Given the description of an element on the screen output the (x, y) to click on. 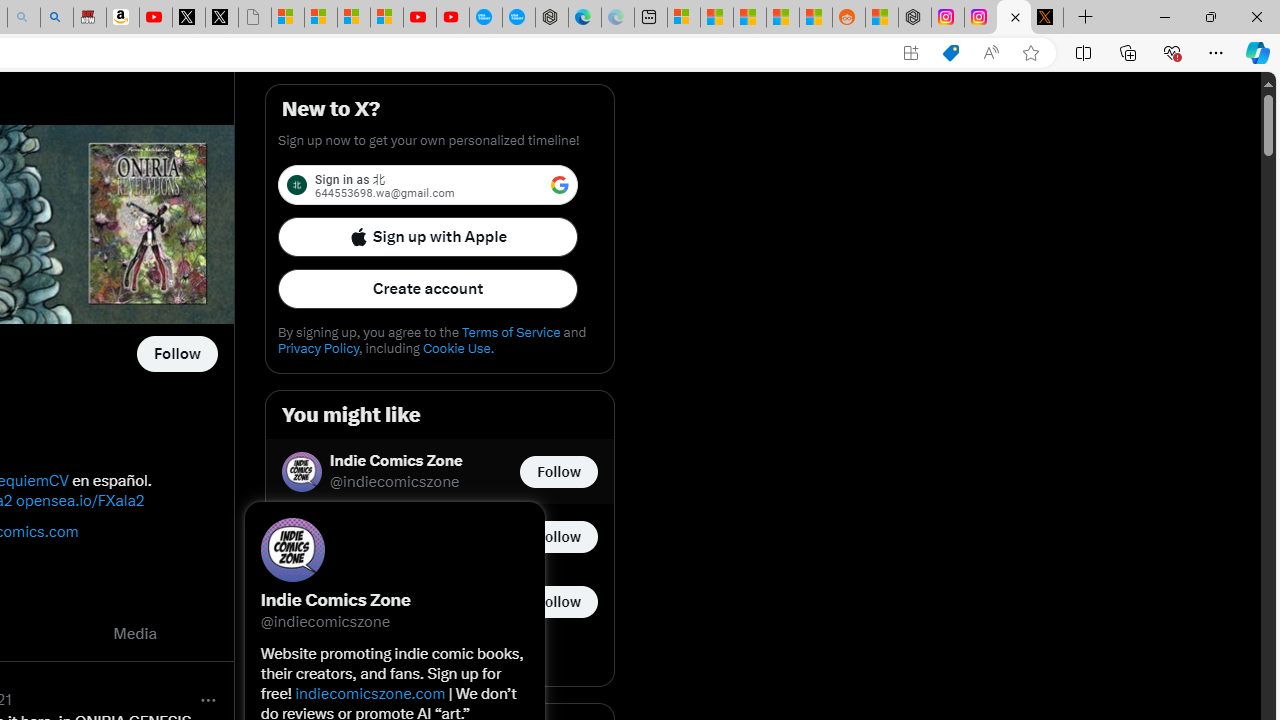
Follow @speakcomix (558, 600)
Show more (440, 660)
Indie Comics Zone @indiecomicszone Follow @indiecomicszone (440, 471)
Follow @westwindcomics (176, 354)
Follow @deanetts (558, 535)
Shopping in Microsoft Edge (950, 53)
Follow @indiecomicszone (558, 471)
